Given the description of an element on the screen output the (x, y) to click on. 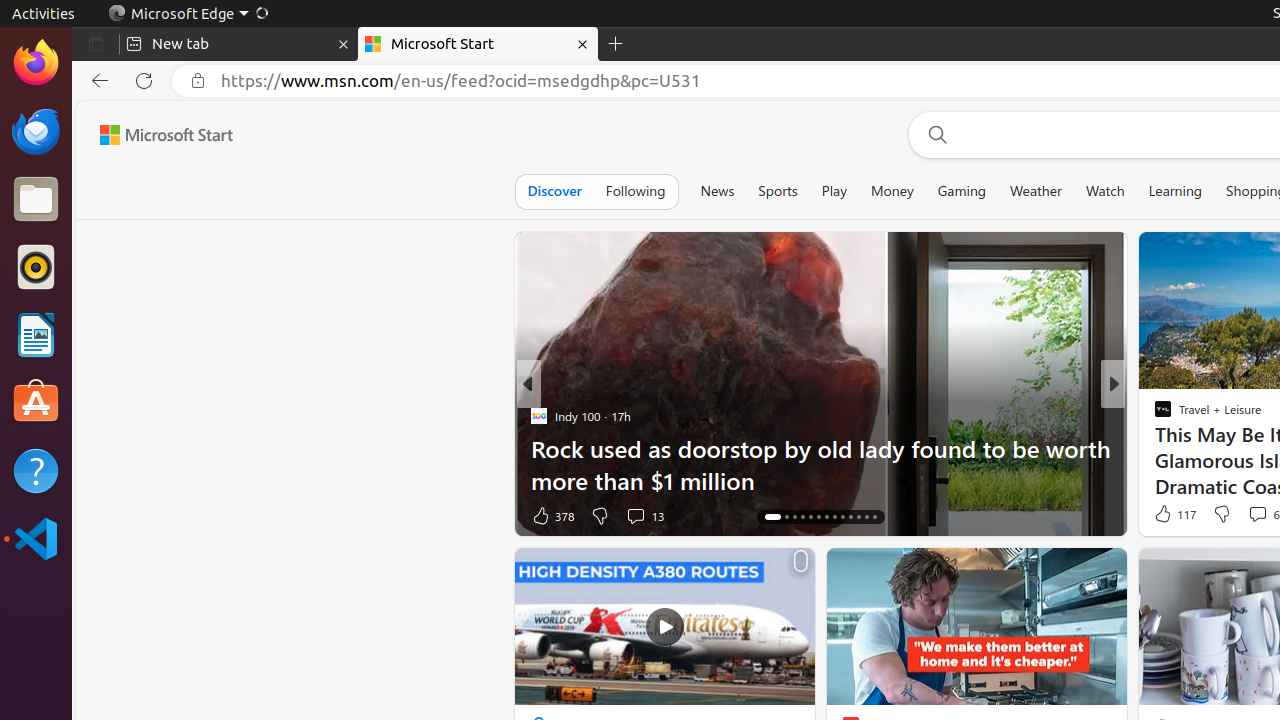
12 Like Element type: toggle-button (1165, 515)
Play Element type: link (834, 191)
328 Like Element type: toggle-button (1168, 515)
Weather Element type: link (1036, 191)
Rock used as doorstop by old lady found to be worth more than $1 million Element type: link (820, 464)
